Given the description of an element on the screen output the (x, y) to click on. 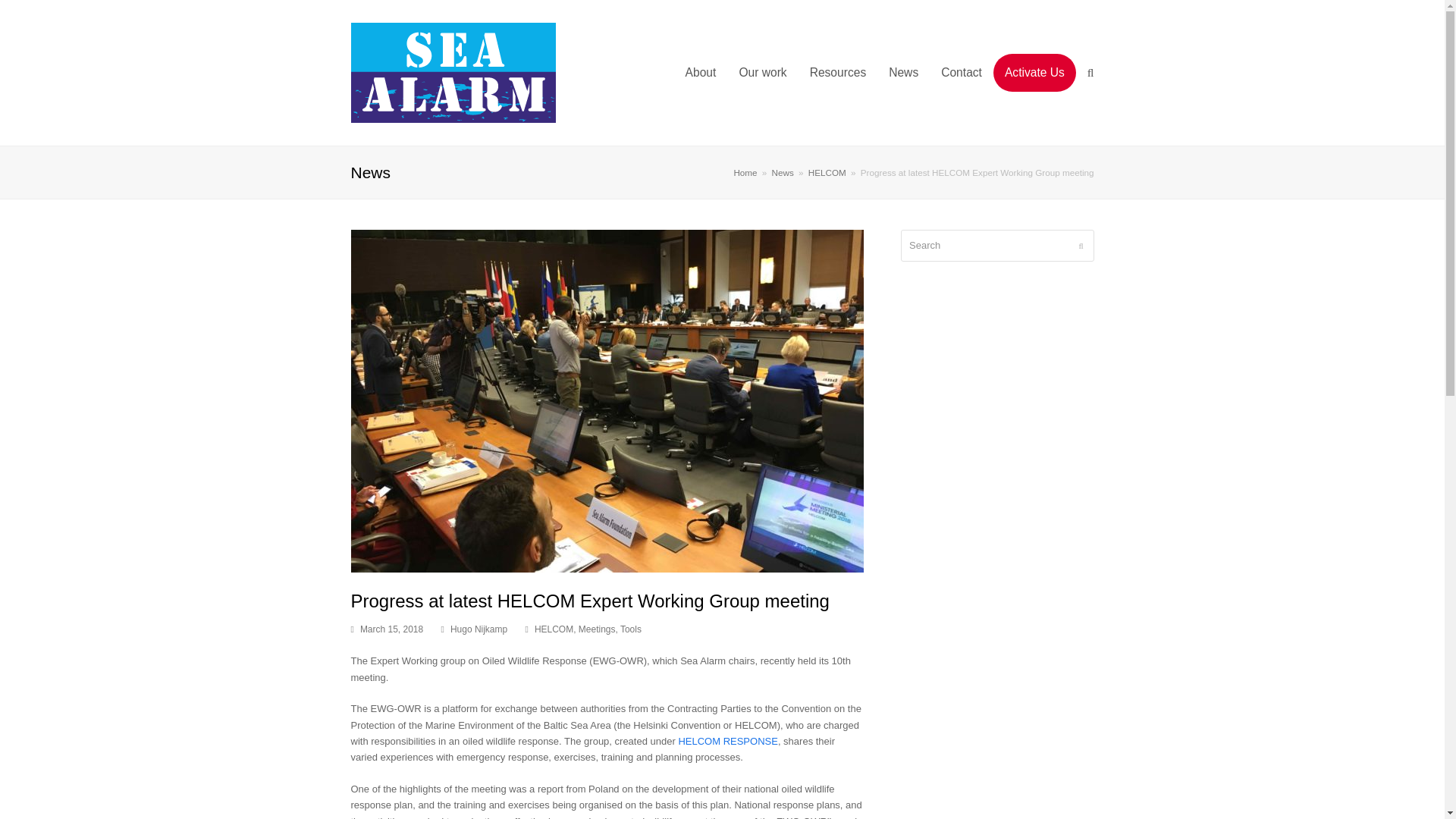
Activate Us (1033, 72)
News (782, 172)
Posts by Hugo Nijkamp (477, 629)
News (903, 72)
Home (745, 172)
Our work (761, 72)
HELCOM (553, 629)
HELCOM RESPONSE (727, 740)
Meetings (596, 629)
About (701, 72)
Contact (961, 72)
Activate Sea Alarm (1033, 72)
Hugo Nijkamp (477, 629)
Resources (837, 72)
HELCOM (826, 172)
